Given the description of an element on the screen output the (x, y) to click on. 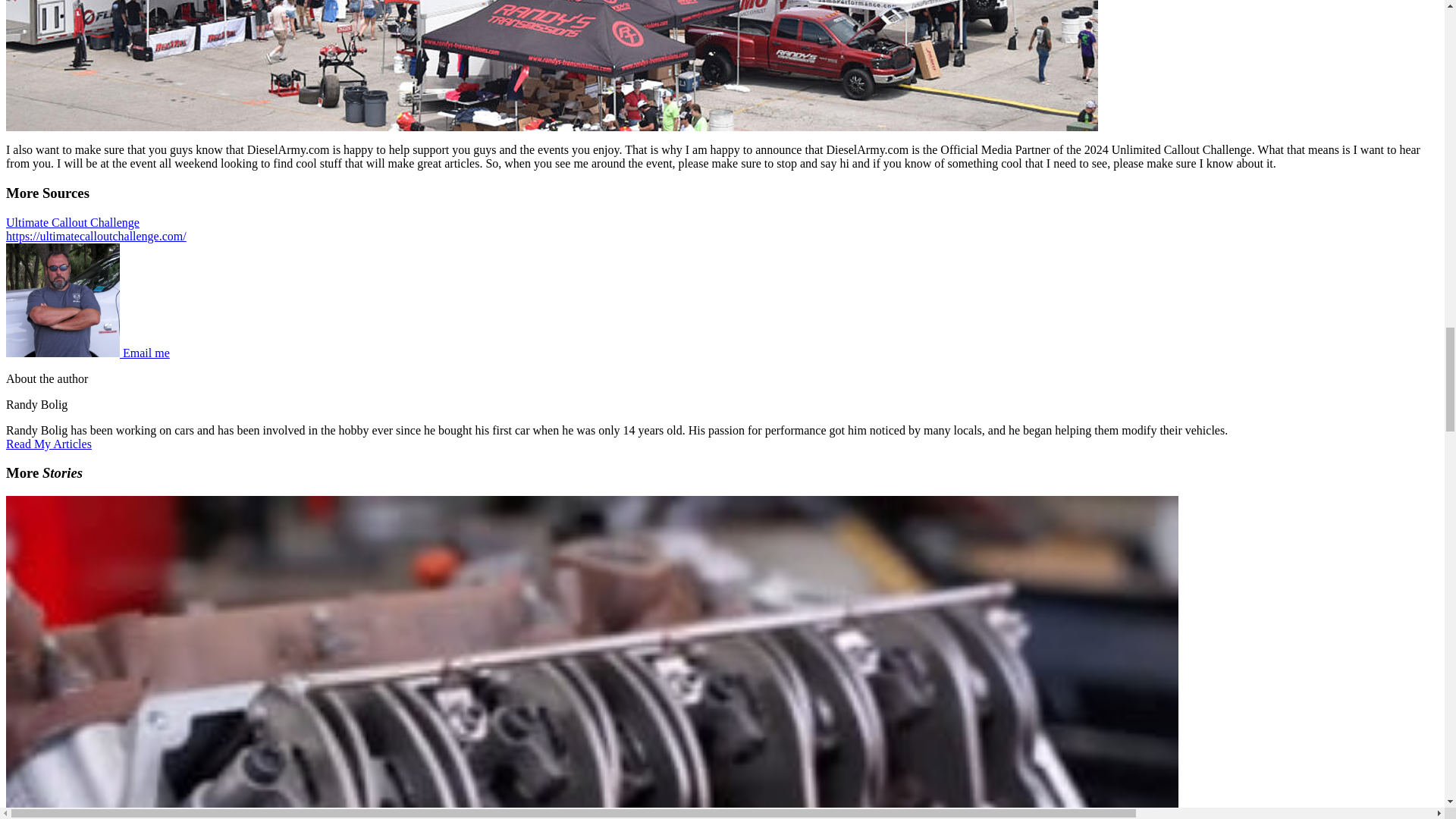
Read My Articles (48, 443)
Email me (146, 352)
Ultimate Callout Challenge (72, 222)
